Given the description of an element on the screen output the (x, y) to click on. 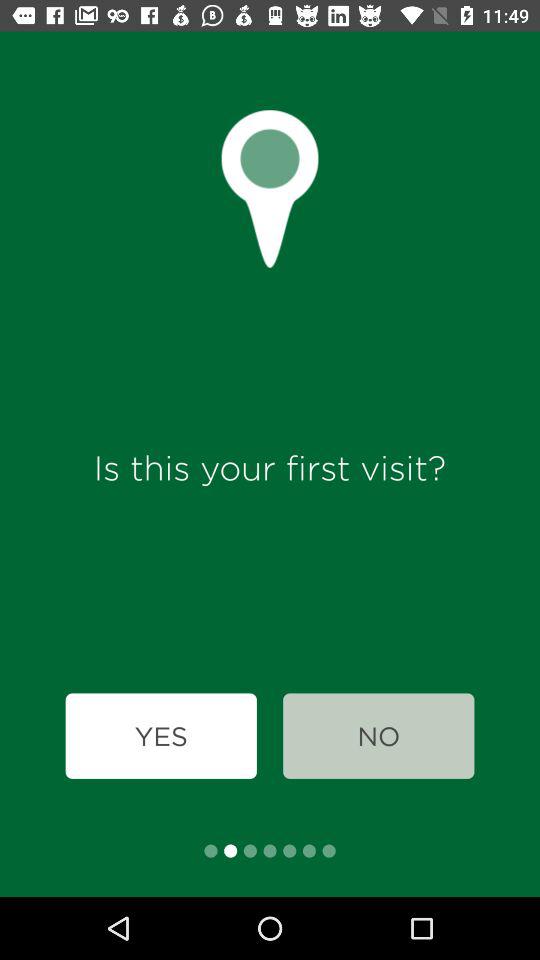
click the icon at the bottom left corner (160, 735)
